Given the description of an element on the screen output the (x, y) to click on. 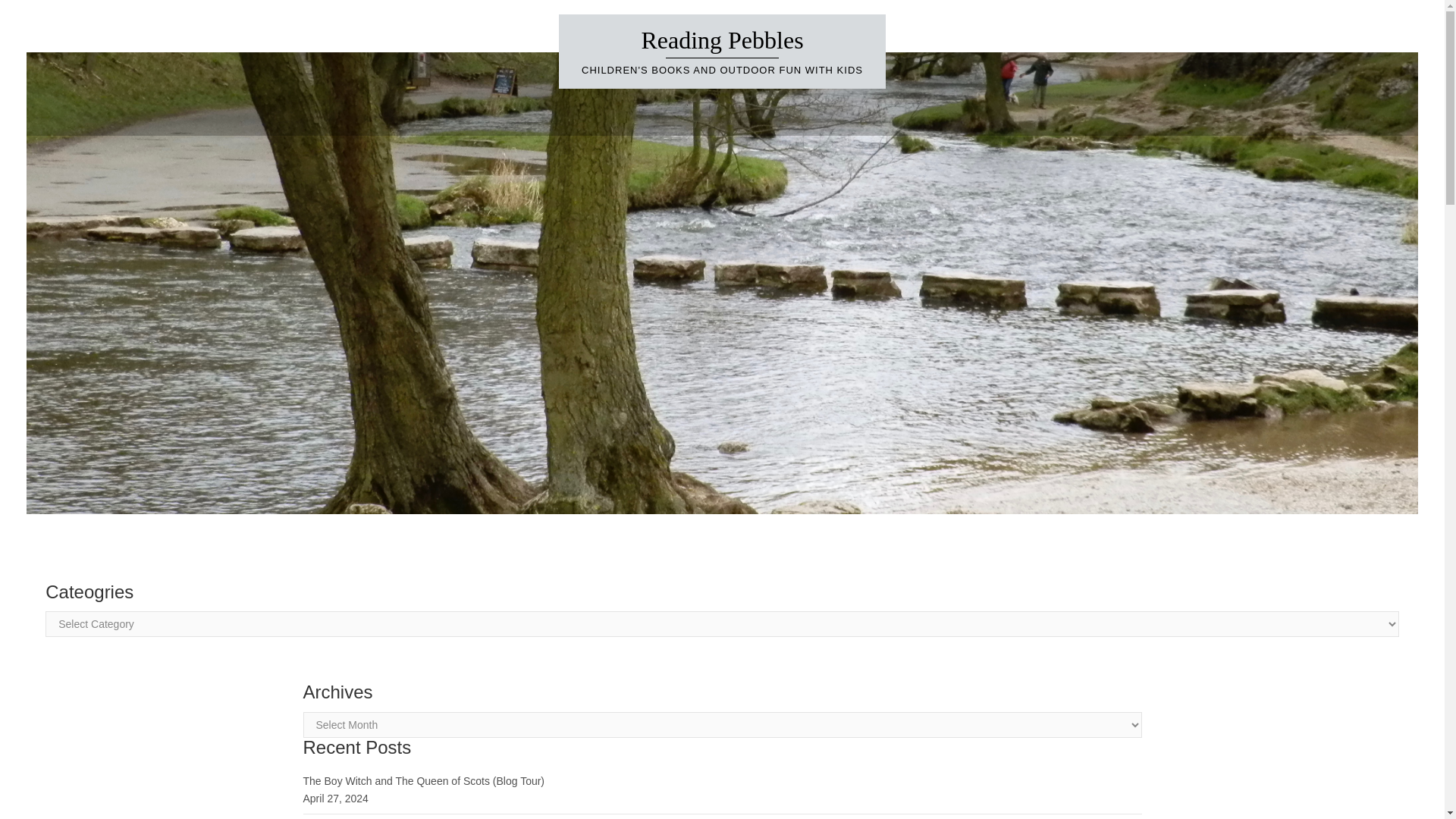
Reading Pebbles (721, 40)
